Given the description of an element on the screen output the (x, y) to click on. 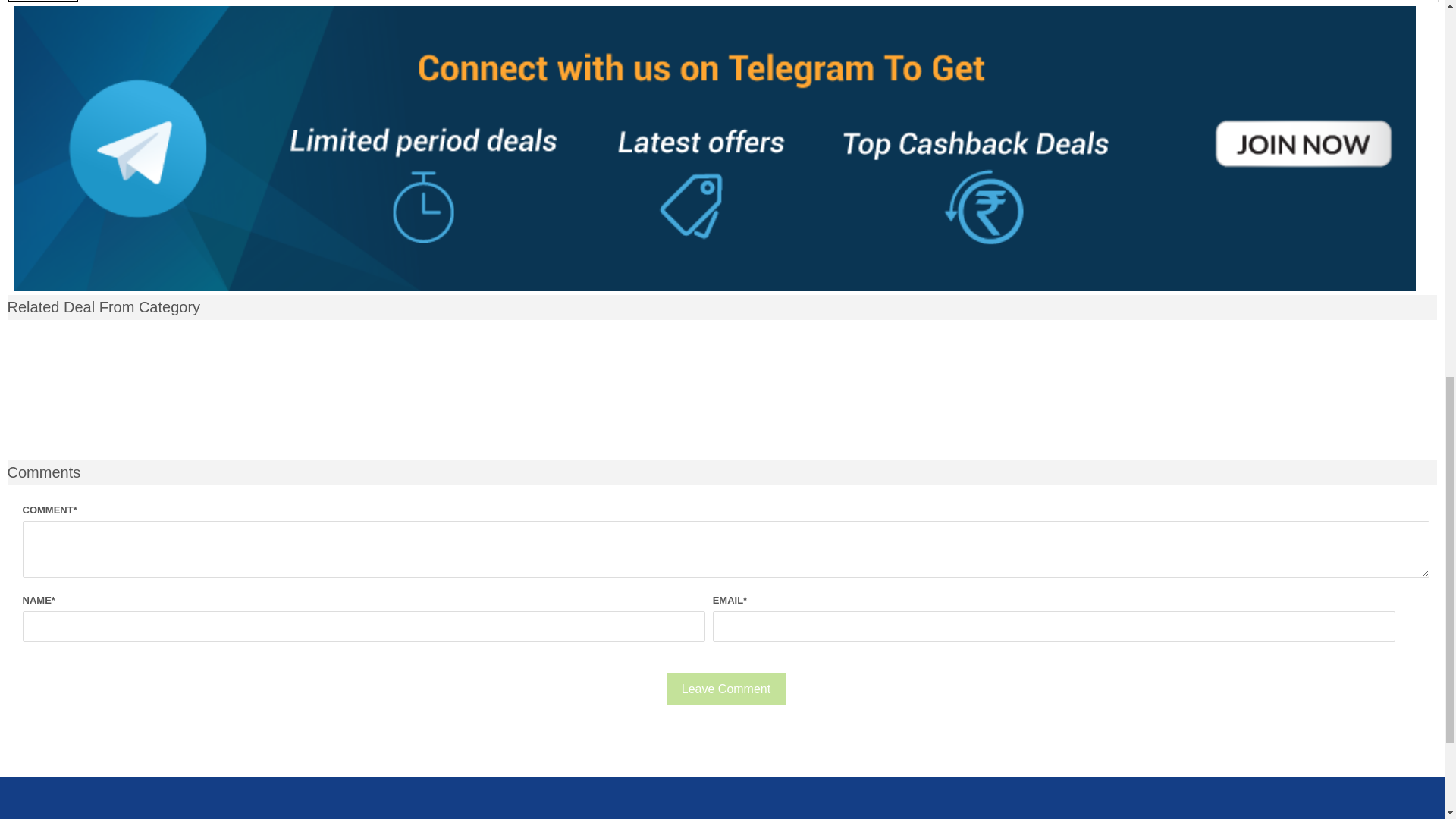
Leave Comment (726, 689)
